Given the description of an element on the screen output the (x, y) to click on. 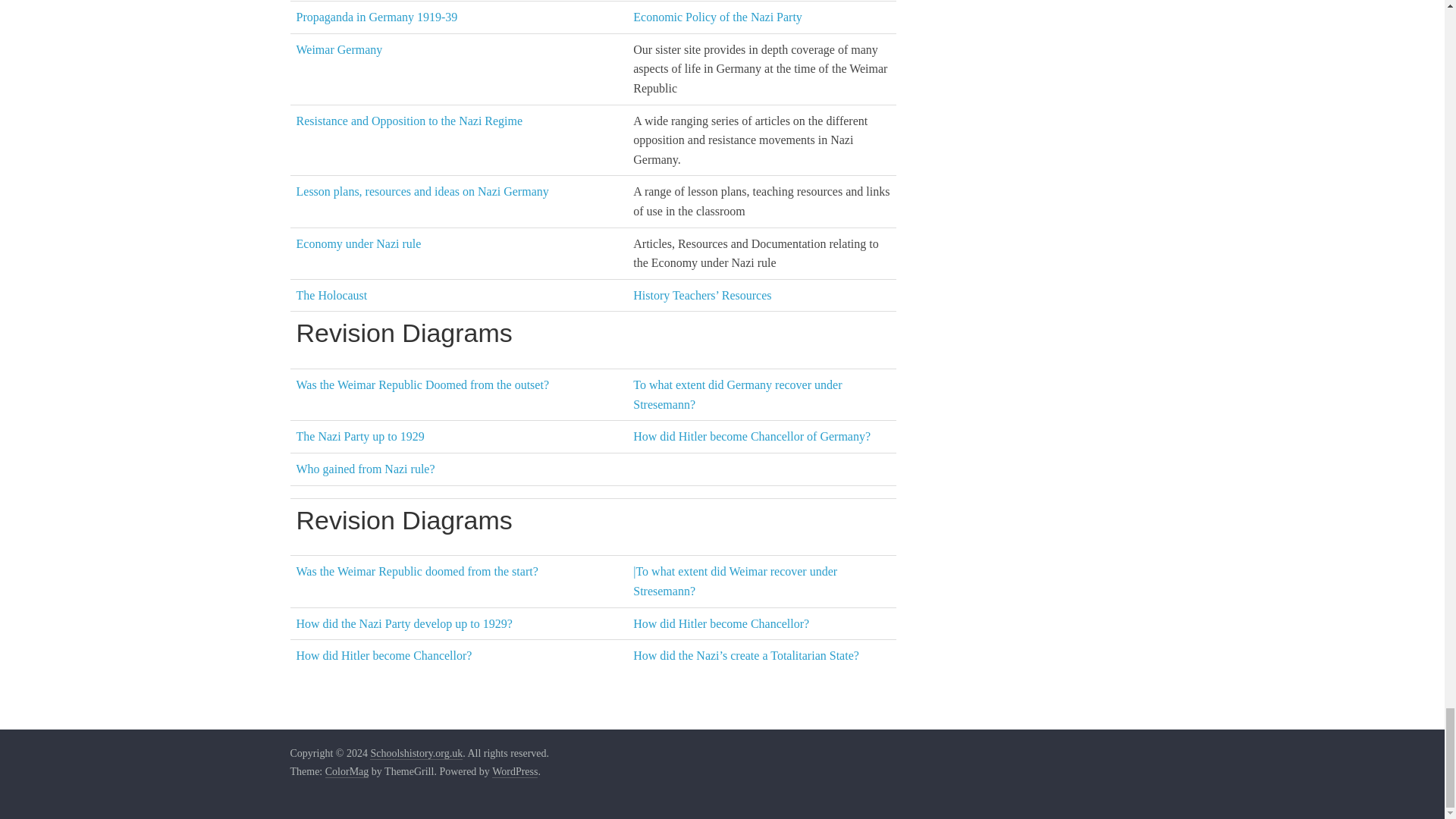
ColorMag (346, 771)
Schoolshistory.org.uk (416, 753)
WordPress (514, 771)
